Given the description of an element on the screen output the (x, y) to click on. 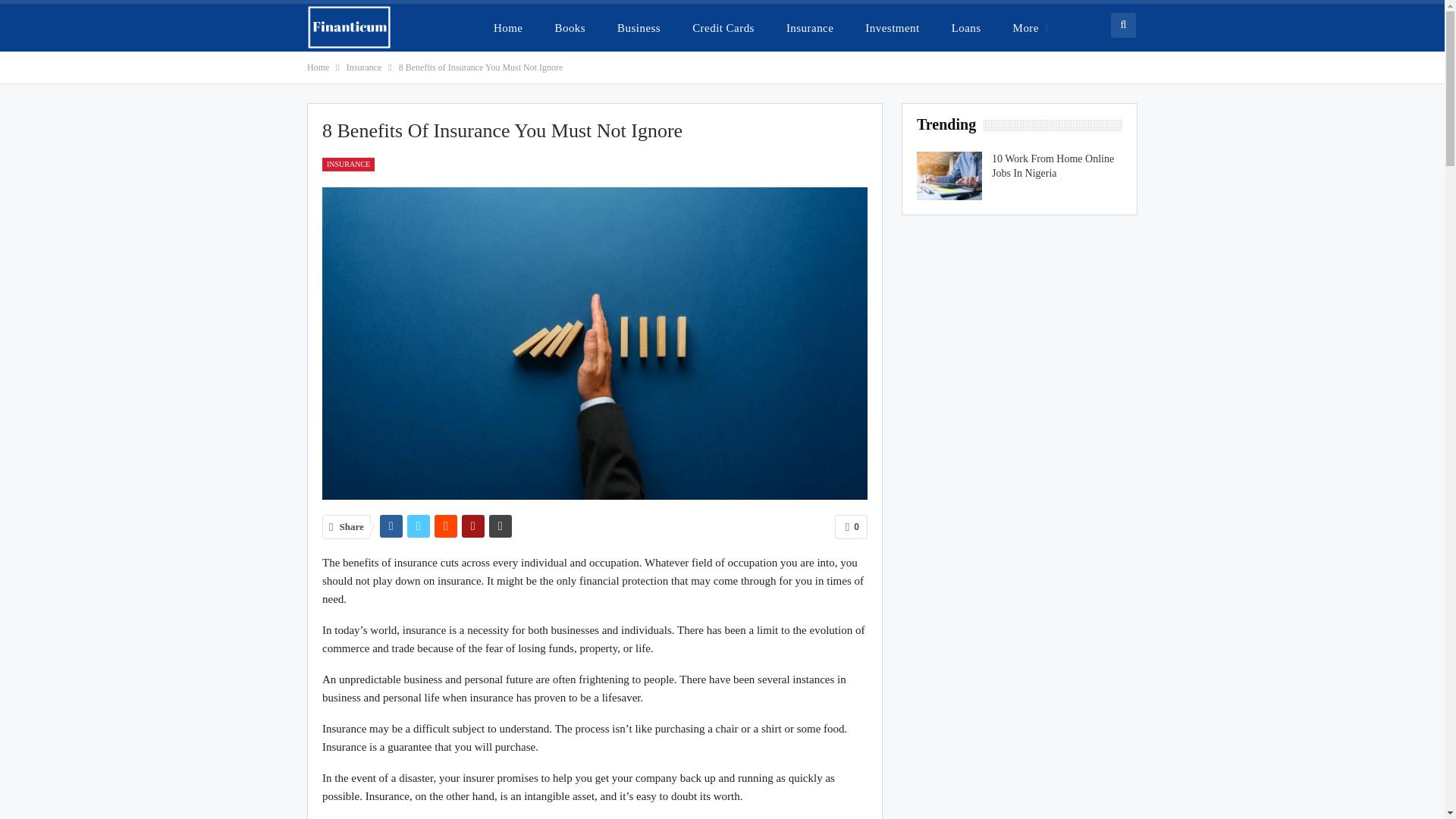
10 Work From Home Online Jobs In Nigeria (949, 175)
Books (568, 27)
Home (318, 67)
Insurance (809, 27)
Home (508, 27)
Investment (892, 27)
INSURANCE (347, 164)
More (1031, 27)
Insurance (363, 67)
0 (850, 526)
Loans (965, 27)
Business (638, 27)
Credit Cards (723, 27)
